Given the description of an element on the screen output the (x, y) to click on. 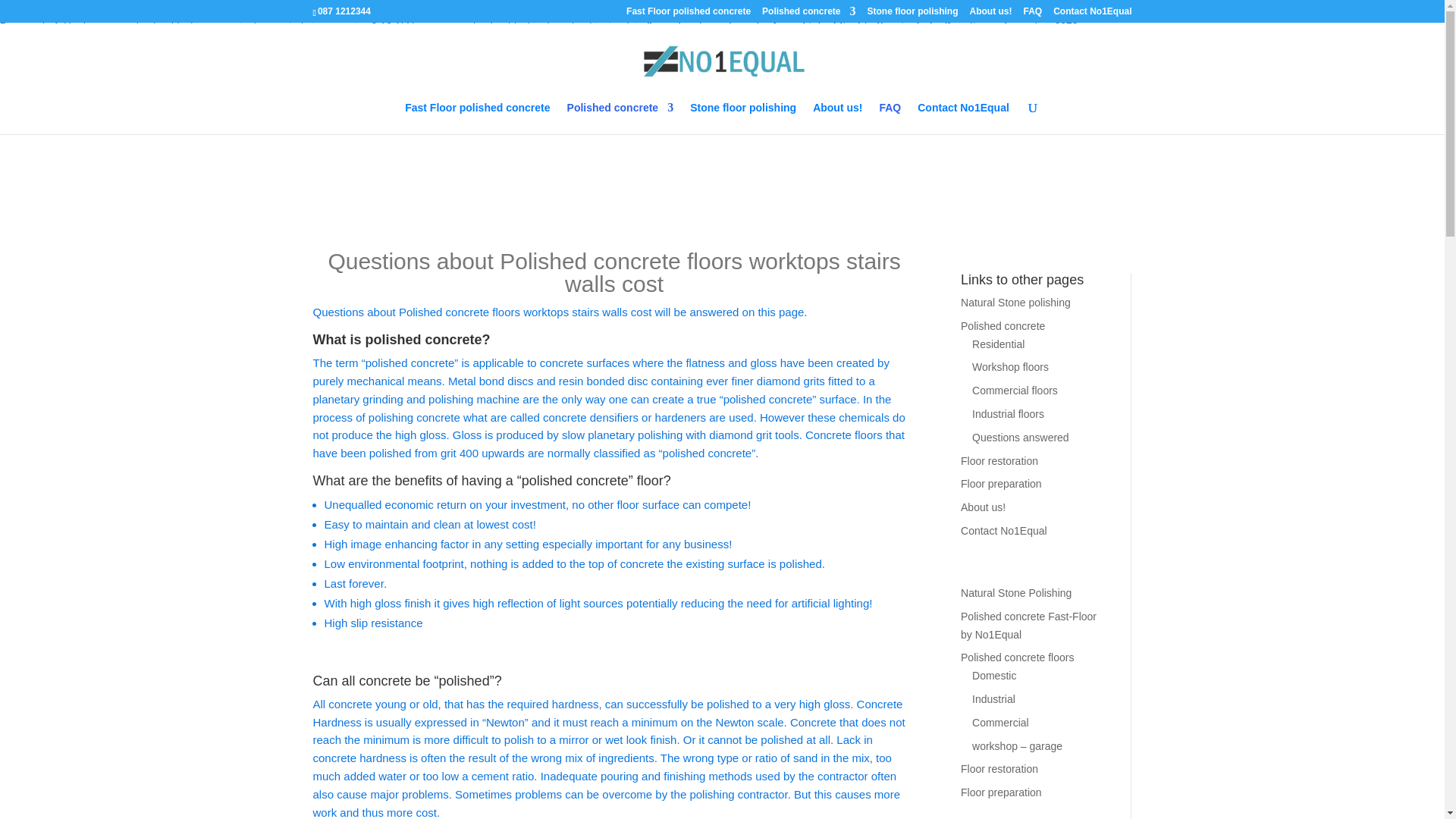
Stone floor polishing (912, 14)
Polished concrete (620, 118)
Fast Floor polished concrete (688, 14)
Polished concrete (808, 14)
About us! (836, 118)
Frequently asked questions (1032, 14)
Marble polishing stone floor restoration (743, 118)
Contact No1Equal (963, 118)
Contact No1Equal (1091, 14)
About us! (990, 14)
Fast Floor polished concrete (477, 118)
Stone floor polishing (743, 118)
FAQ (1032, 14)
Marble polishing stone floor restoration (912, 14)
